Given the description of an element on the screen output the (x, y) to click on. 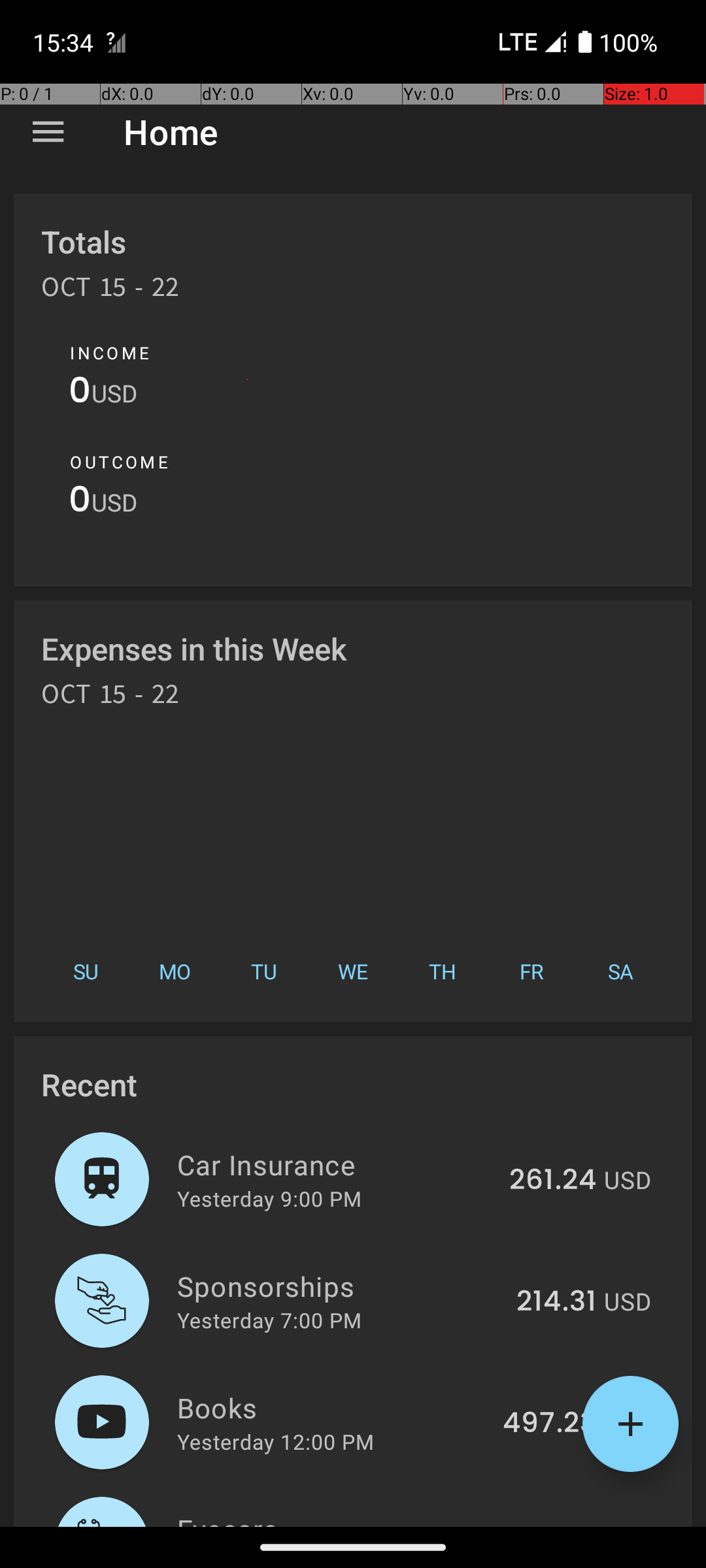
Car Insurance Element type: android.widget.TextView (335, 1164)
Yesterday 9:00 PM Element type: android.widget.TextView (269, 1198)
261.24 Element type: android.widget.TextView (552, 1180)
Sponsorships Element type: android.widget.TextView (339, 1285)
Yesterday 7:00 PM Element type: android.widget.TextView (269, 1320)
214.31 Element type: android.widget.TextView (555, 1301)
Books Element type: android.widget.TextView (332, 1407)
Yesterday 12:00 PM Element type: android.widget.TextView (275, 1441)
497.23 Element type: android.widget.TextView (549, 1423)
Eyecare Element type: android.widget.TextView (340, 1518)
75.25 Element type: android.widget.TextView (557, 1524)
